Given the description of an element on the screen output the (x, y) to click on. 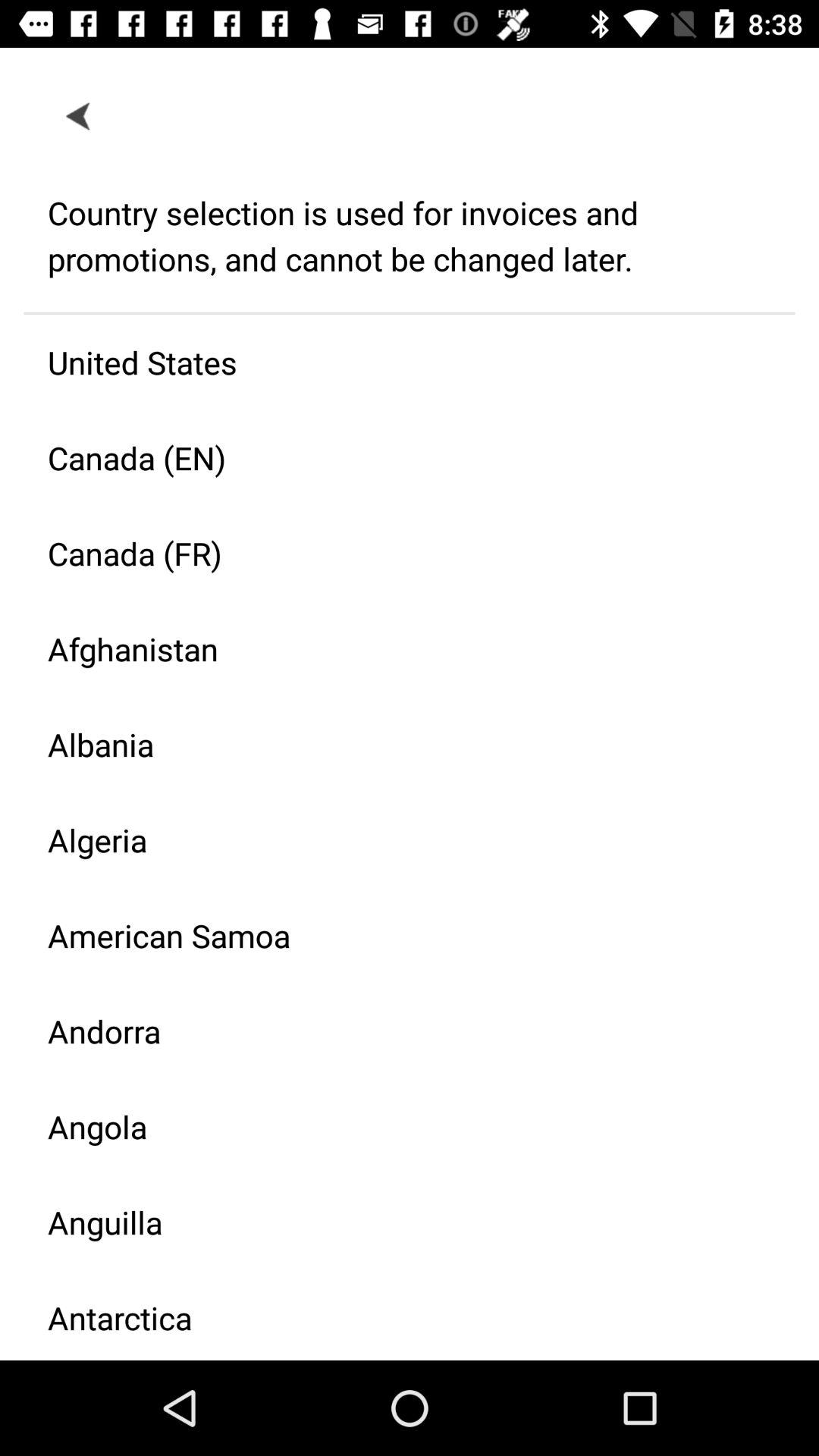
click the item below the united states icon (397, 457)
